Given the description of an element on the screen output the (x, y) to click on. 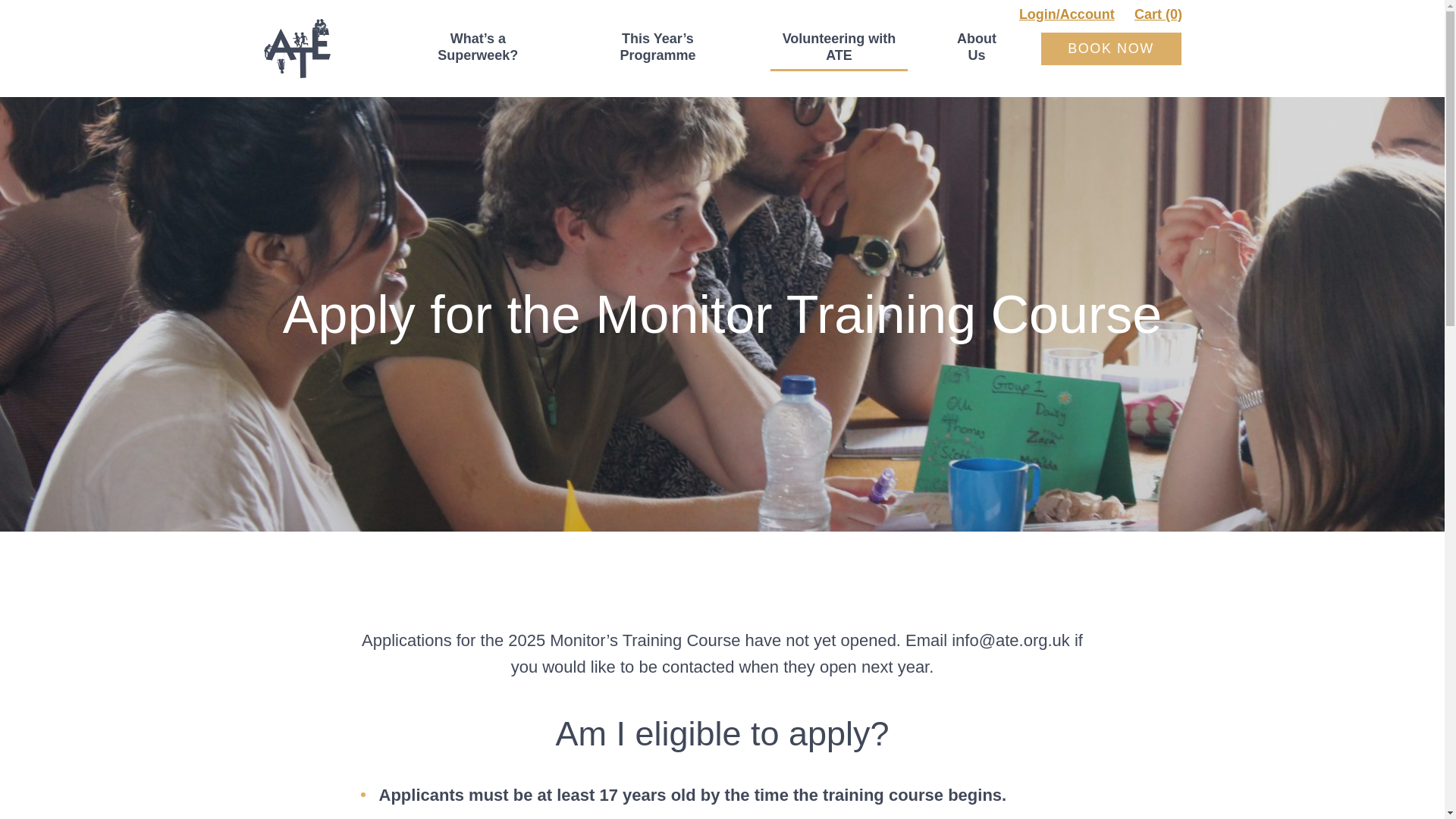
Active Training And Education (296, 47)
BOOK NOW (1110, 47)
Volunteering with ATE (839, 48)
About Us (976, 48)
